Given the description of an element on the screen output the (x, y) to click on. 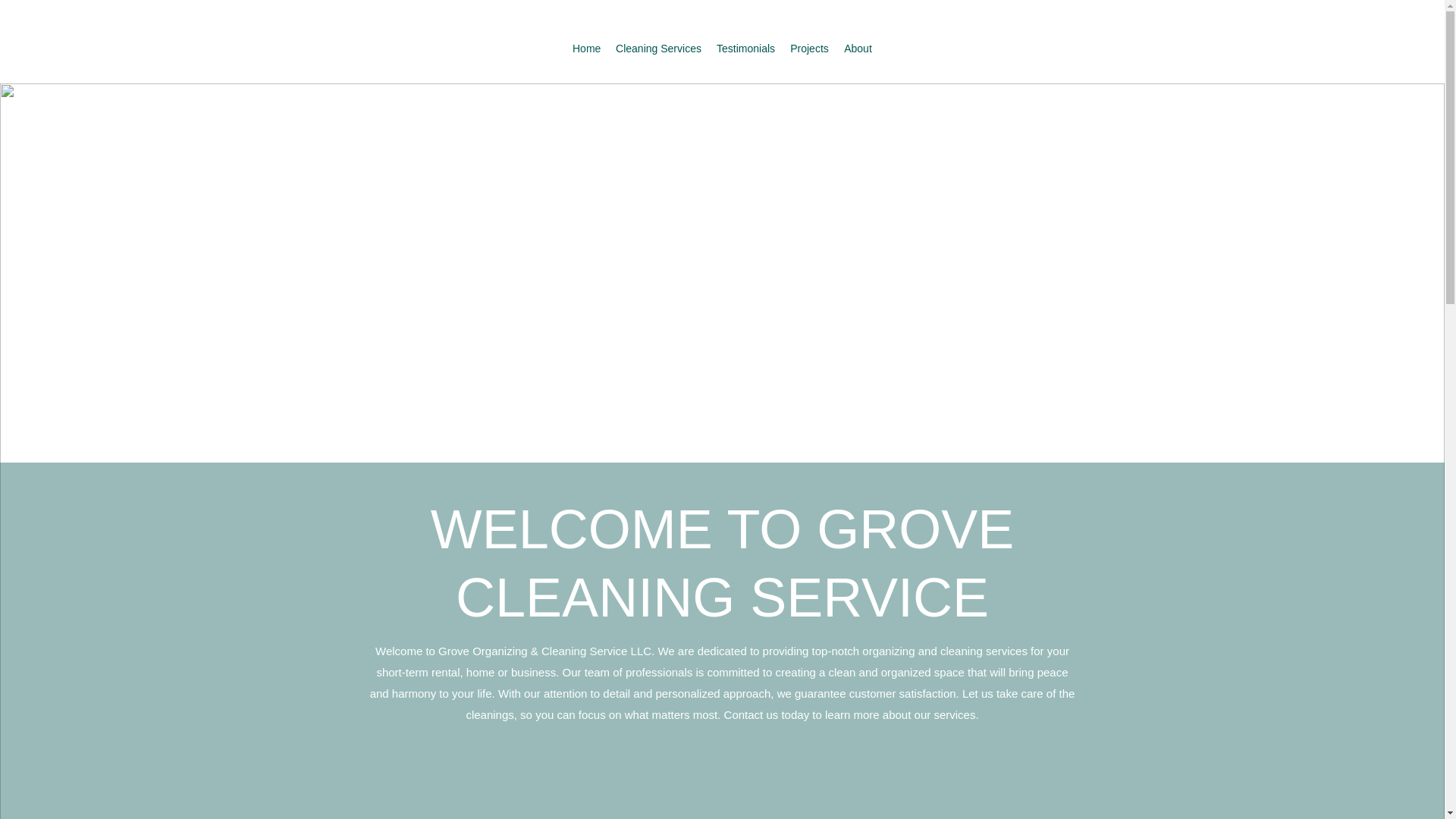
Testimonials (746, 47)
Projects (809, 47)
Home (586, 47)
About (857, 47)
Cleaning Services (658, 47)
